Given the description of an element on the screen output the (x, y) to click on. 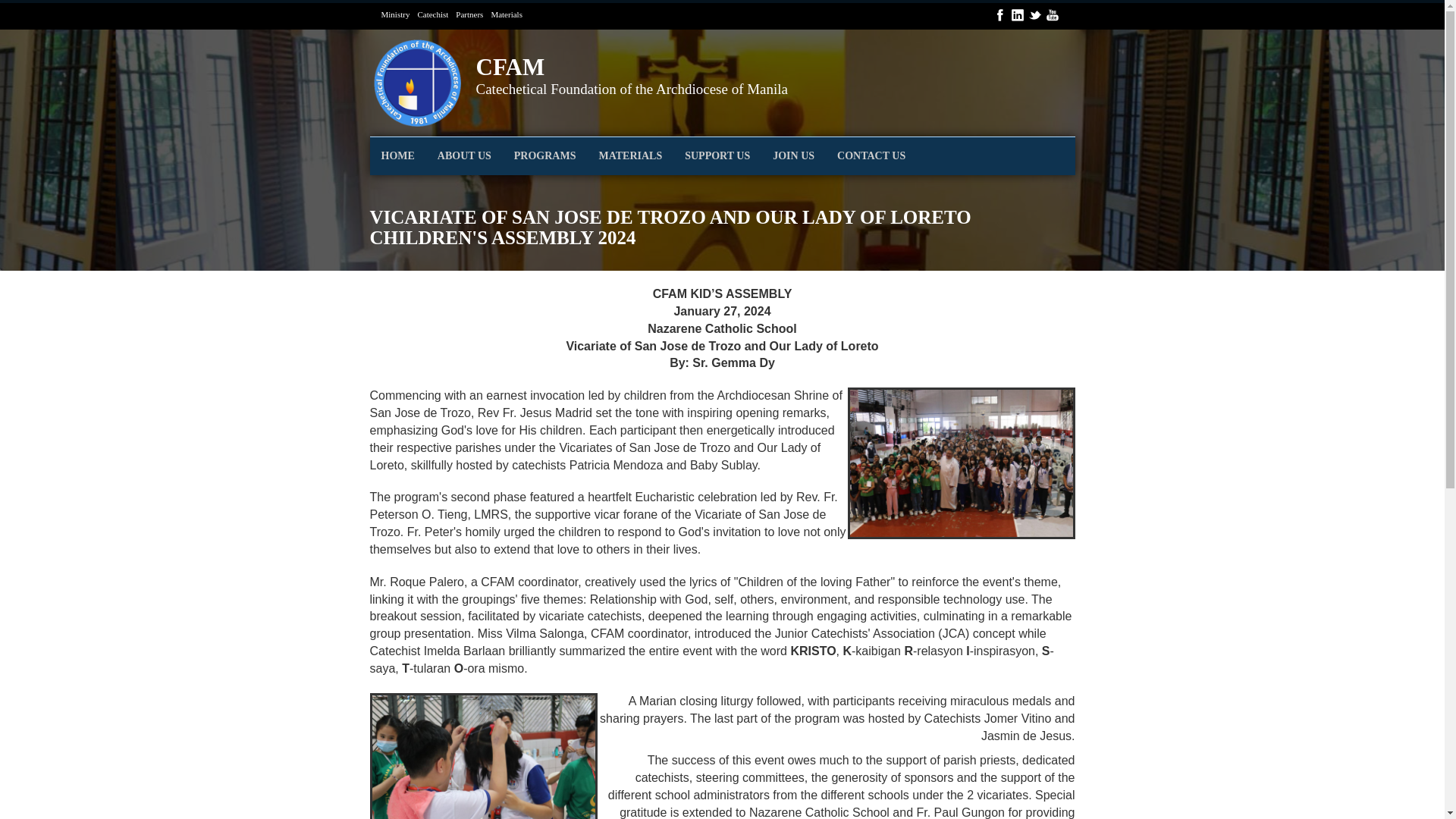
Materials (631, 68)
PROGRAMS (506, 13)
Ministry (545, 156)
ABOUT US (394, 13)
Home (464, 156)
Skip to main content (422, 83)
MATERIALS (469, 13)
JOIN US (629, 156)
Home (793, 156)
HOME (631, 68)
Catechist (397, 156)
SUPPORT US (432, 13)
CONTACT US (716, 156)
